Given the description of an element on the screen output the (x, y) to click on. 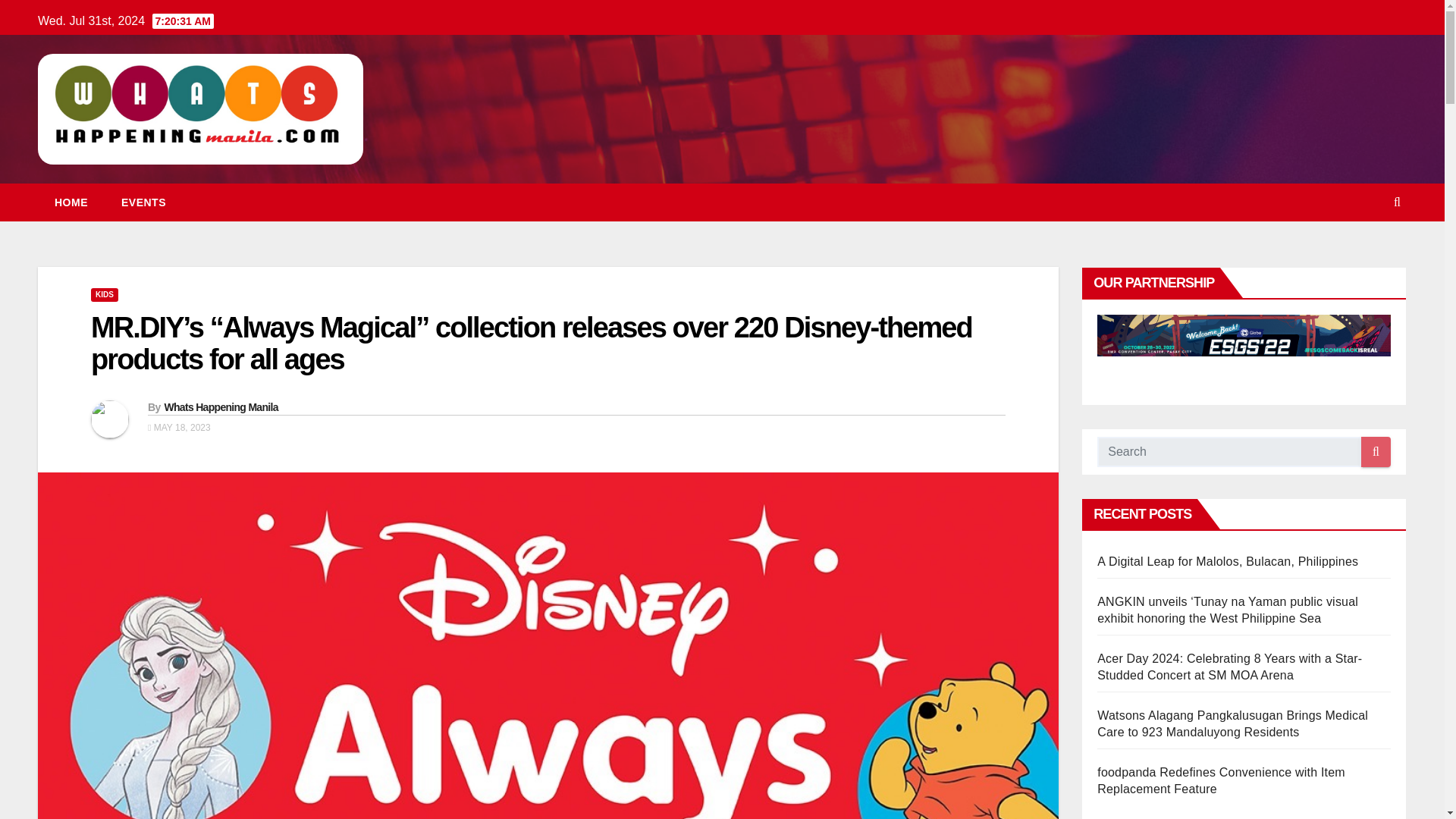
HOME (70, 202)
KIDS (103, 295)
Whats Happening Manila (220, 407)
EVENTS (143, 202)
A Digital Leap for Malolos, Bulacan, Philippines (1227, 561)
Home (70, 202)
